Given the description of an element on the screen output the (x, y) to click on. 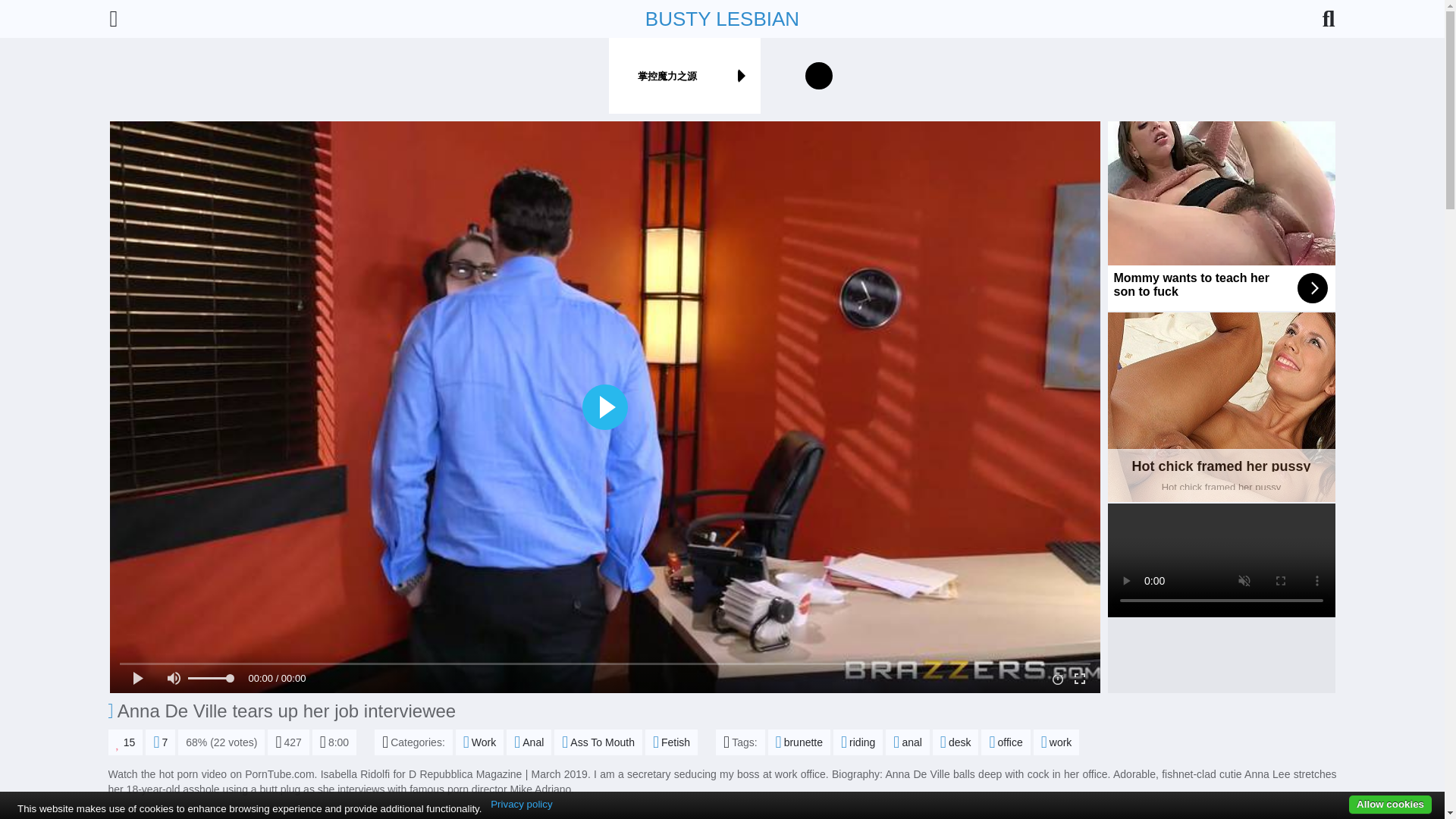
office (1005, 742)
riding (1220, 407)
work (857, 742)
Ass To Mouth (1056, 742)
Anal (598, 742)
15 (528, 742)
Work (124, 742)
BUSTY LESBIAN (479, 742)
brunette (722, 18)
